Given the description of an element on the screen output the (x, y) to click on. 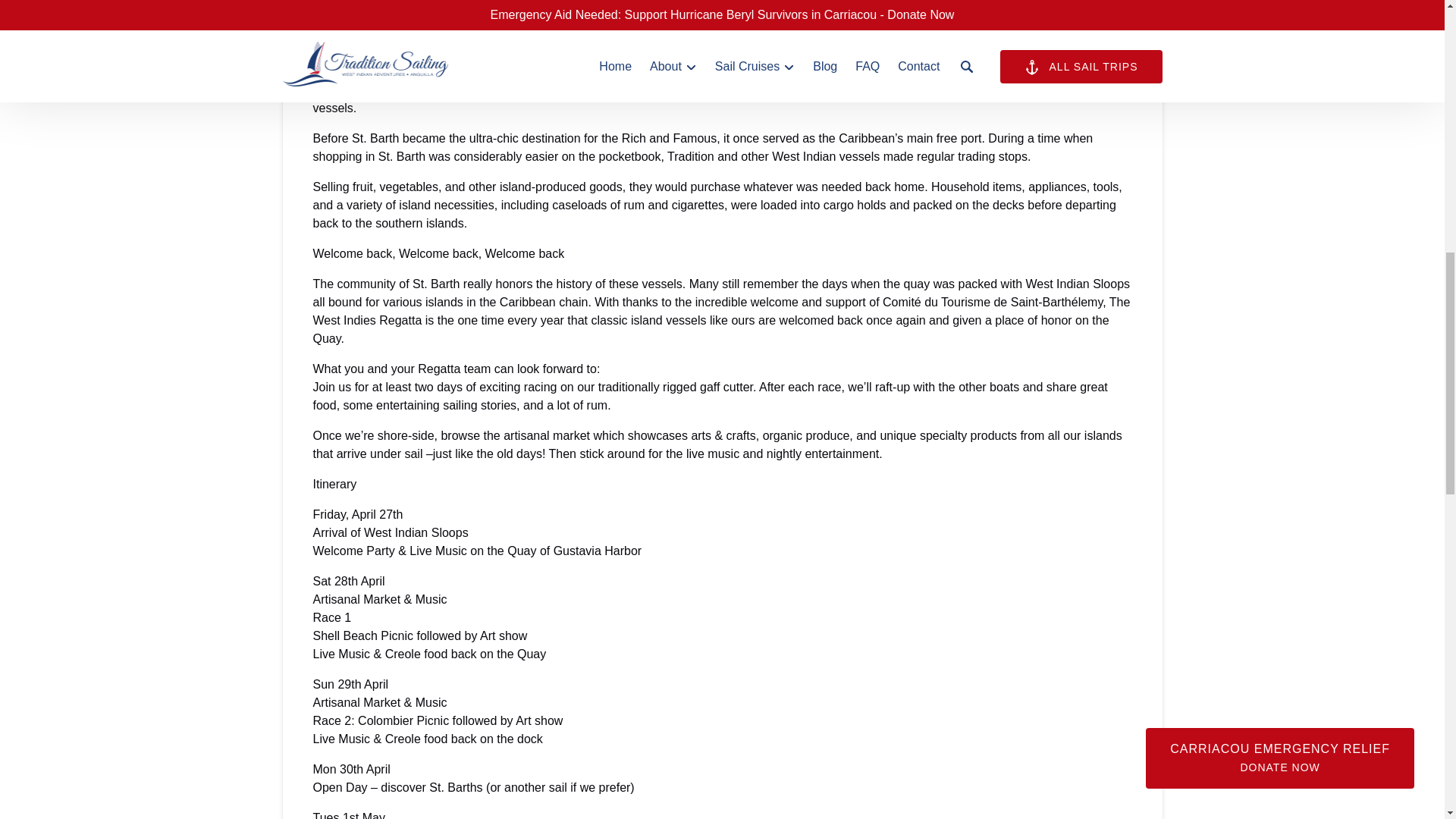
FareHarbor (1342, 64)
